Given the description of an element on the screen output the (x, y) to click on. 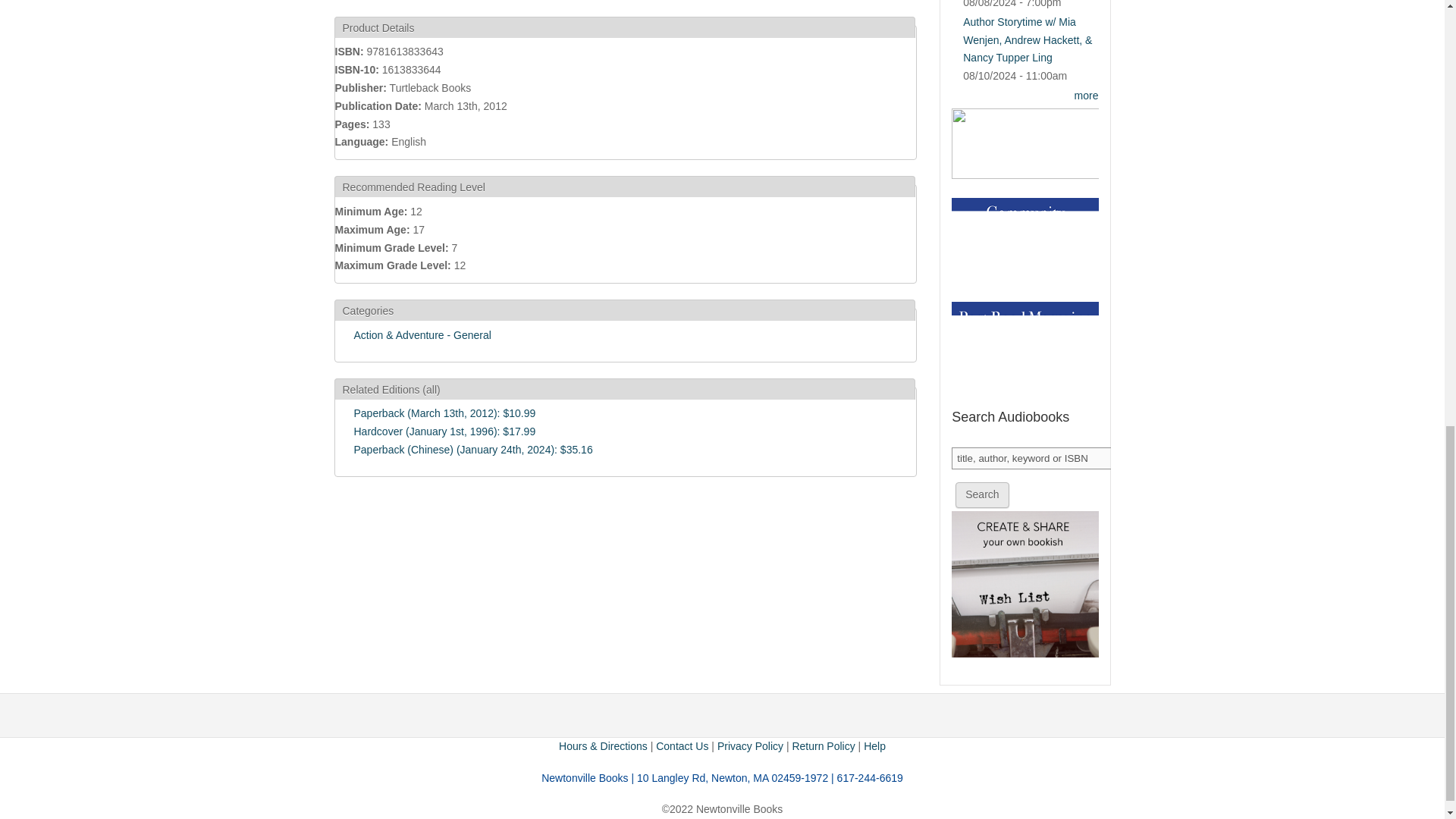
Search (982, 494)
Enter title, author, keyword or ISBN. (1033, 458)
title, author, keyword or ISBN (1033, 458)
